Given the description of an element on the screen output the (x, y) to click on. 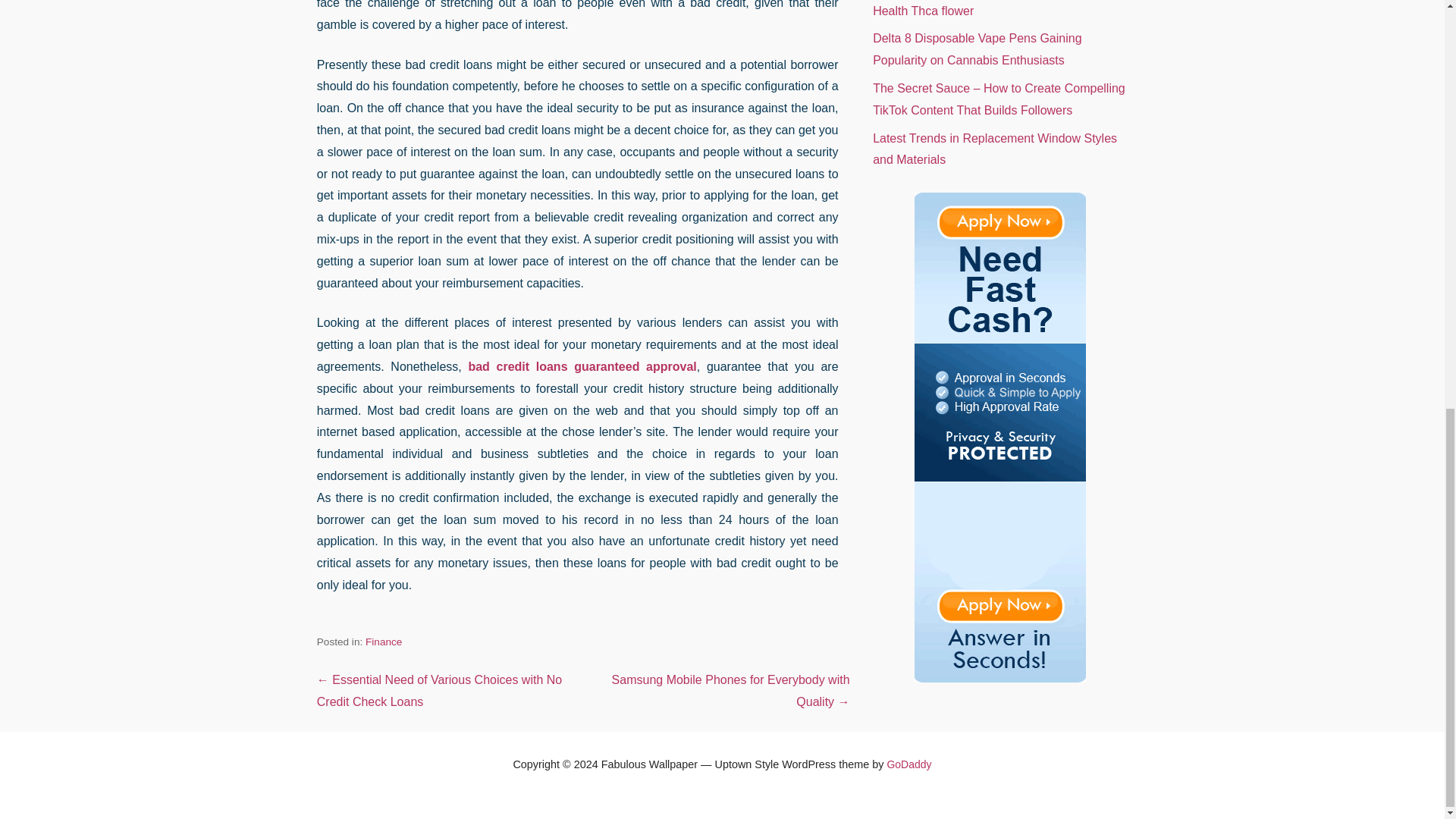
bad credit loans guaranteed approval (581, 366)
Latest Trends in Replacement Window Styles and Materials (994, 149)
GoDaddy (908, 764)
Finance (383, 641)
